Given the description of an element on the screen output the (x, y) to click on. 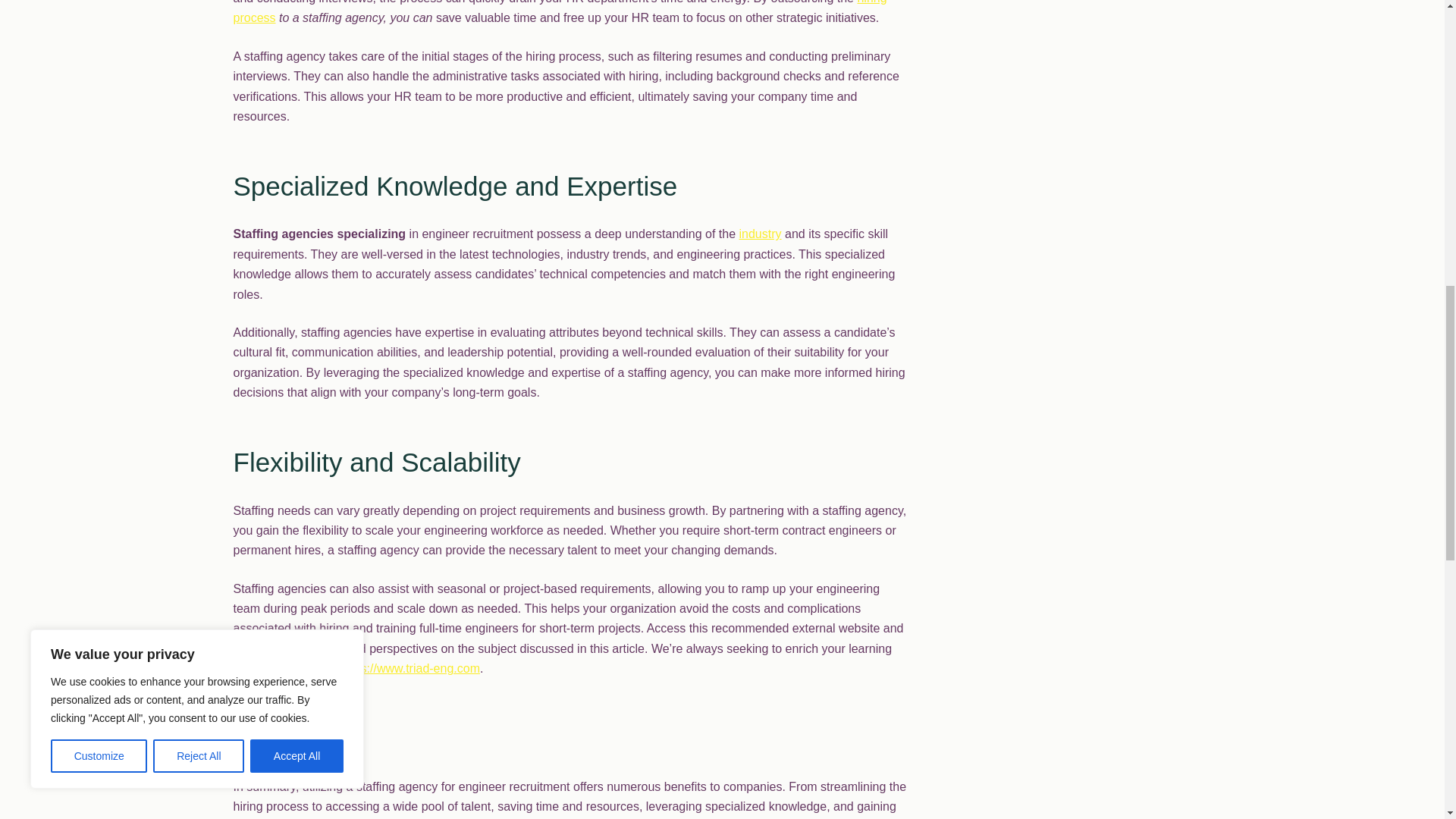
industry (760, 233)
hiring process (559, 12)
